Given the description of an element on the screen output the (x, y) to click on. 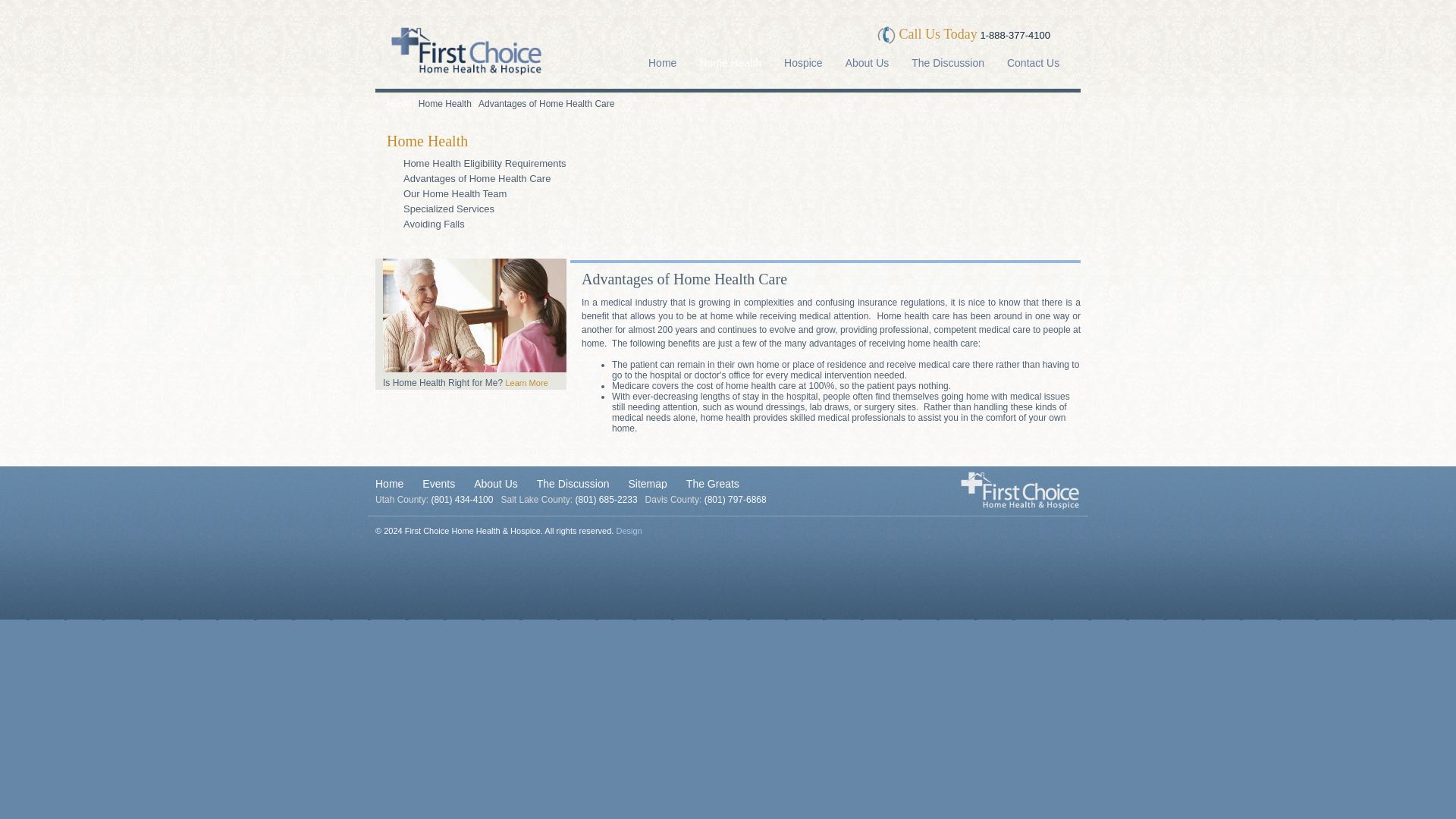
About First Choice Home Health and Hospice of Utah (496, 483)
Contact First Choice Home Health and Hospice (1032, 67)
Advantages of Home Health Care (546, 103)
The Discussion (573, 483)
Home Health (427, 140)
Learn More (526, 382)
About Us (496, 483)
Advantages of Home Health Care (476, 178)
Home Health (730, 67)
Hospice in Utah (803, 67)
